Given the description of an element on the screen output the (x, y) to click on. 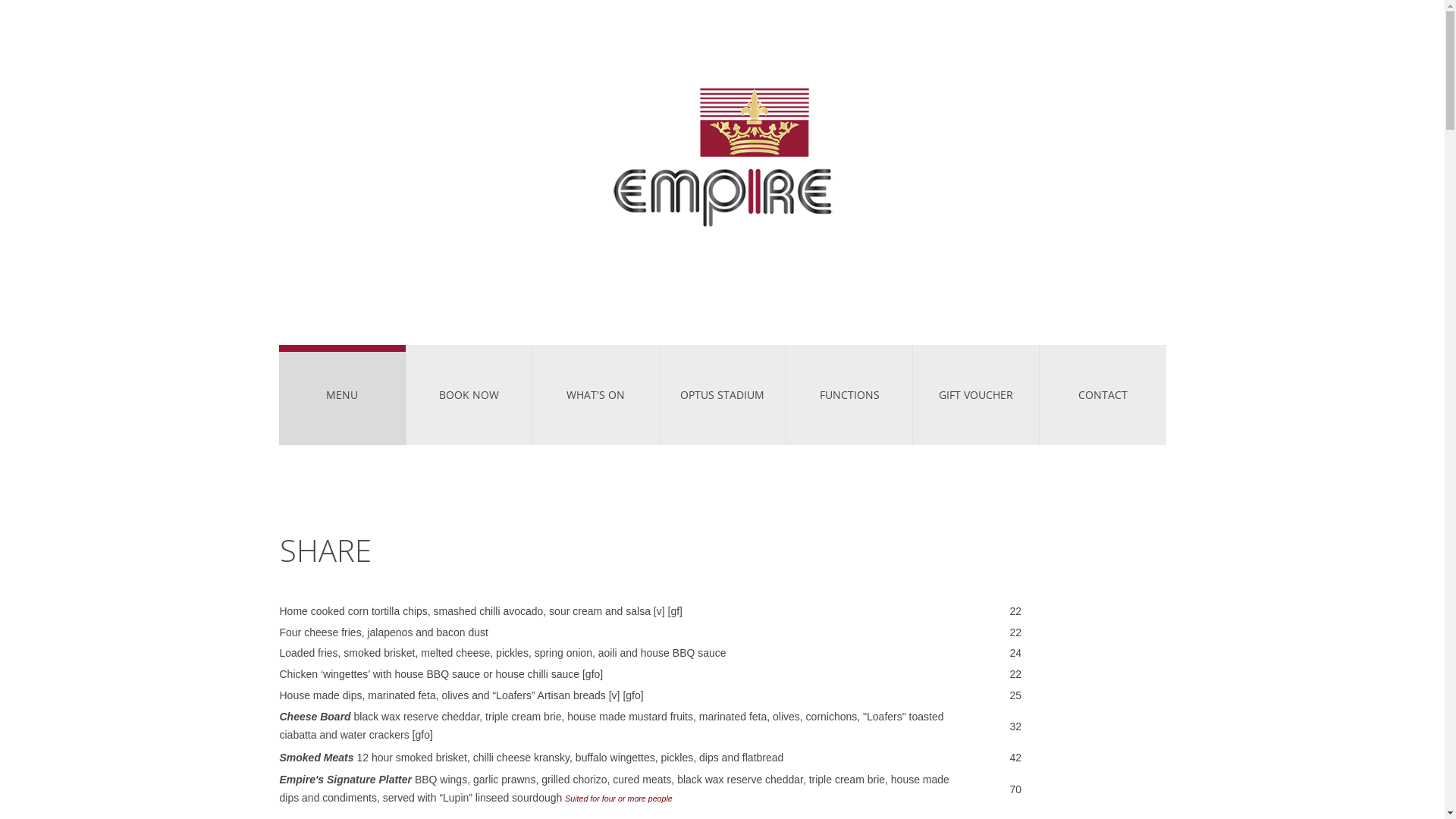
WHAT'S ON Element type: text (595, 395)
MENU Element type: text (342, 395)
BOOK NOW Element type: text (469, 395)
CONTACT Element type: text (1102, 395)
FUNCTIONS Element type: text (849, 395)
OPTUS STADIUM Element type: text (722, 395)
GIFT VOUCHER Element type: text (975, 395)
